Given the description of an element on the screen output the (x, y) to click on. 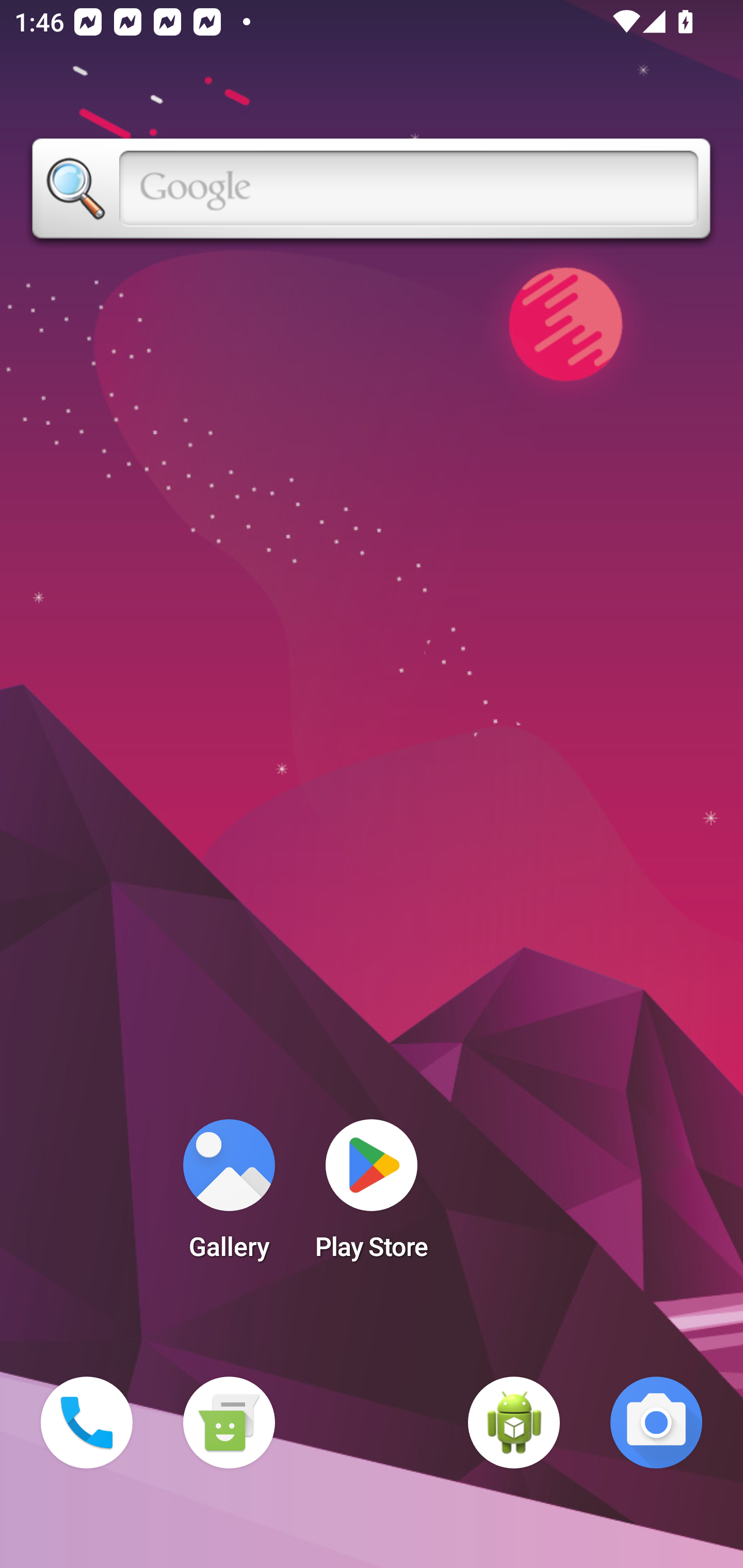
Gallery (228, 1195)
Play Store (371, 1195)
Phone (86, 1422)
Messaging (228, 1422)
WebView Browser Tester (513, 1422)
Camera (656, 1422)
